Given the description of an element on the screen output the (x, y) to click on. 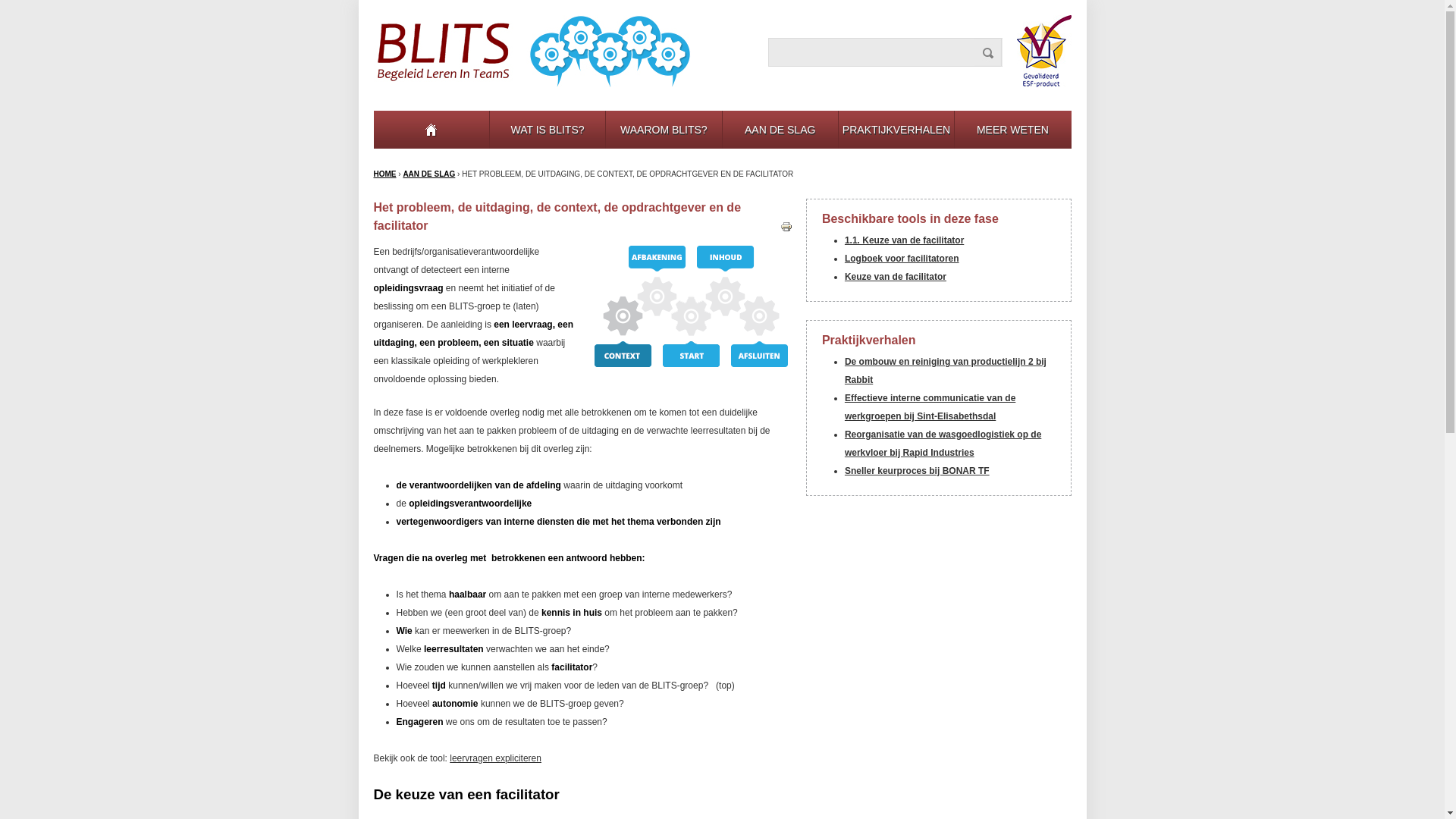
Home Element type: hover (531, 51)
Zoeken Element type: text (987, 51)
Maak een printvriendelijke versie van deze pagina. Element type: hover (785, 225)
MEER WETEN Element type: text (1012, 129)
1.1. Keuze van de facilitator Element type: text (903, 240)
AAN DE SLAG Element type: text (428, 173)
PRAKTIJKVERHALEN Element type: text (895, 129)
Jump to navigation Element type: text (722, 2)
Home Element type: text (430, 129)
Sneller keurproces bij BONAR TF Element type: text (916, 470)
Keuze van de facilitator Element type: text (895, 276)
WAT IS BLITS? Element type: text (547, 129)
leervragen expliciteren Element type: text (495, 758)
WAAROM BLITS? Element type: text (663, 129)
HOME Element type: text (384, 173)
Logboek voor facilitatoren Element type: text (901, 258)
De ombouw en reiniging van productielijn 2 bij Rabbit Element type: text (945, 370)
AAN DE SLAG Element type: text (779, 129)
Geef de woorden op waarnaar u wilt zoeken. Element type: hover (885, 51)
Printvriendelijke versie Element type: hover (785, 226)
